Given the description of an element on the screen output the (x, y) to click on. 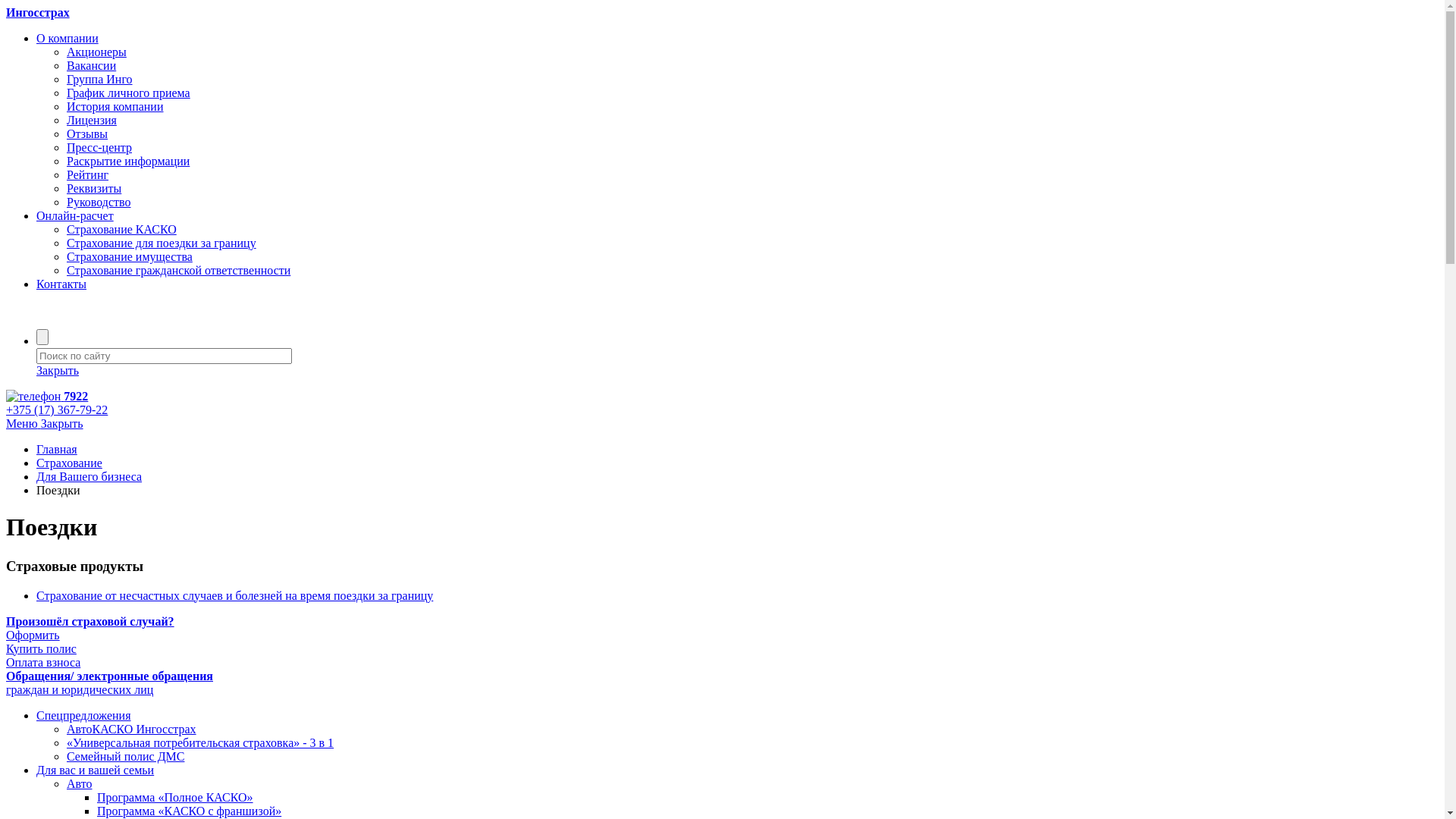
+375 (17) 367-79-22 Element type: text (722, 410)
 7922 Element type: text (722, 396)
